Given the description of an element on the screen output the (x, y) to click on. 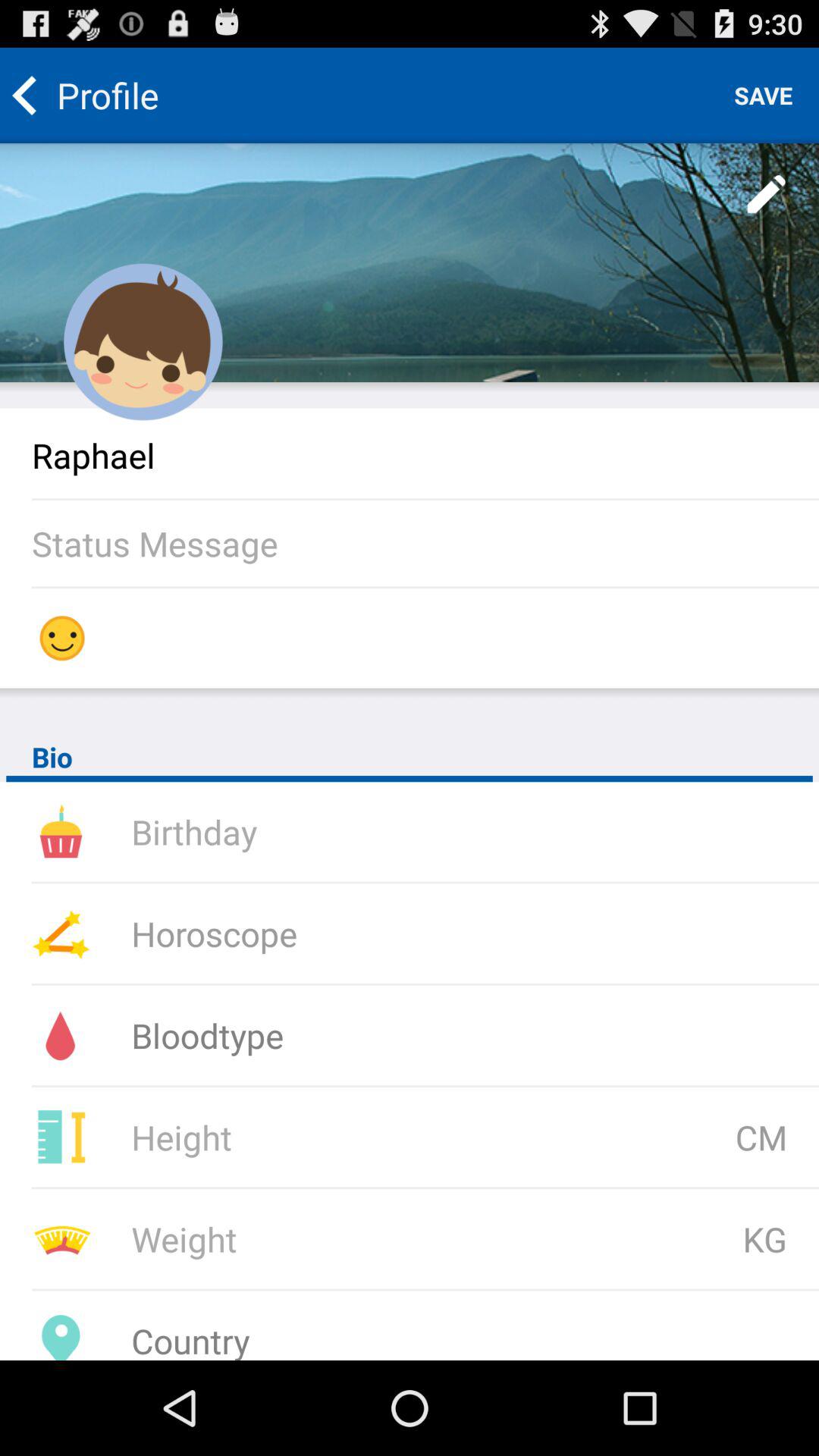
enter height (330, 1137)
